Given the description of an element on the screen output the (x, y) to click on. 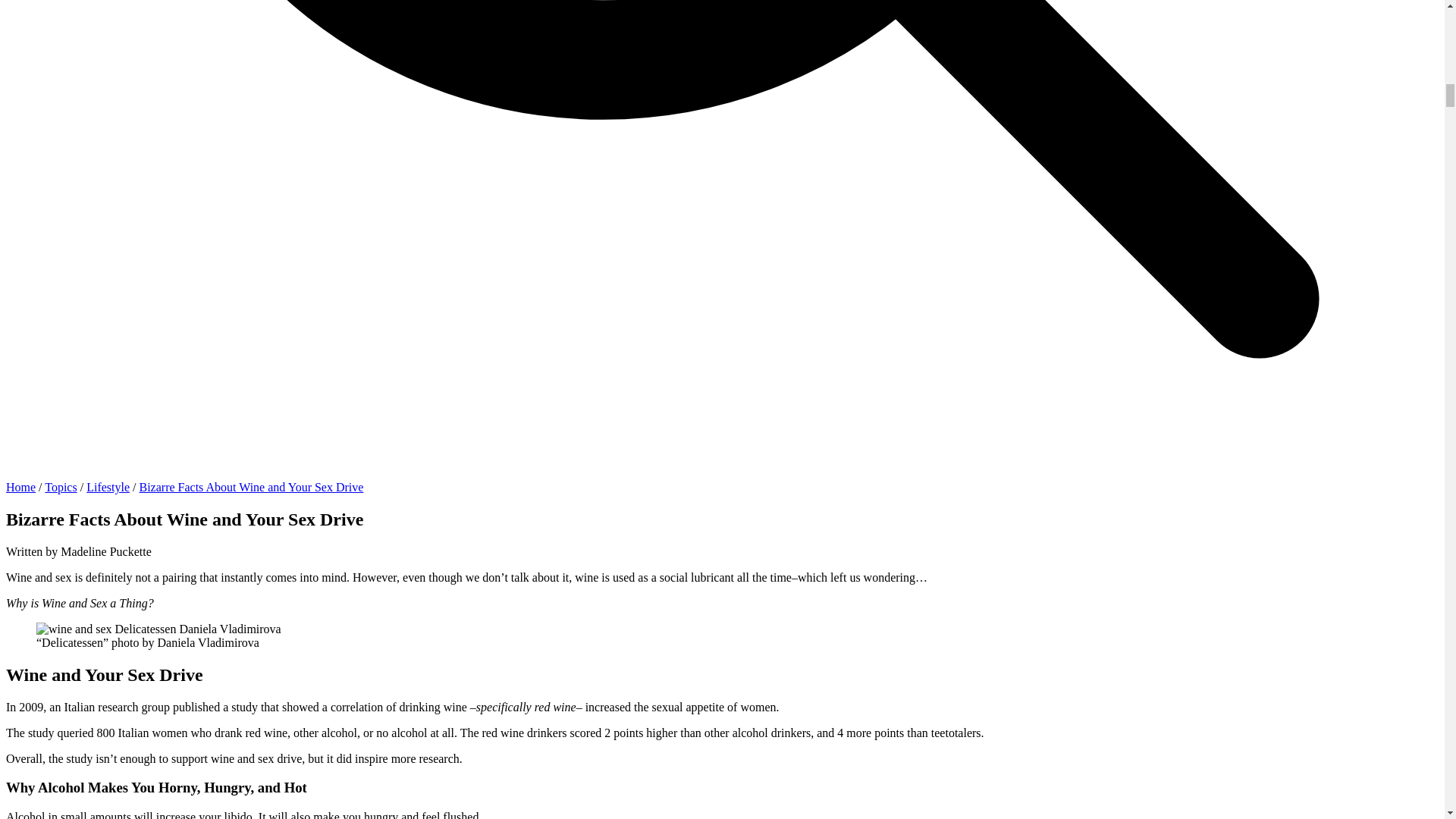
Bizarre Facts About Wine and Your Sex Drive (250, 486)
Topics (61, 486)
Home (19, 486)
Lifestyle (107, 486)
